Given the description of an element on the screen output the (x, y) to click on. 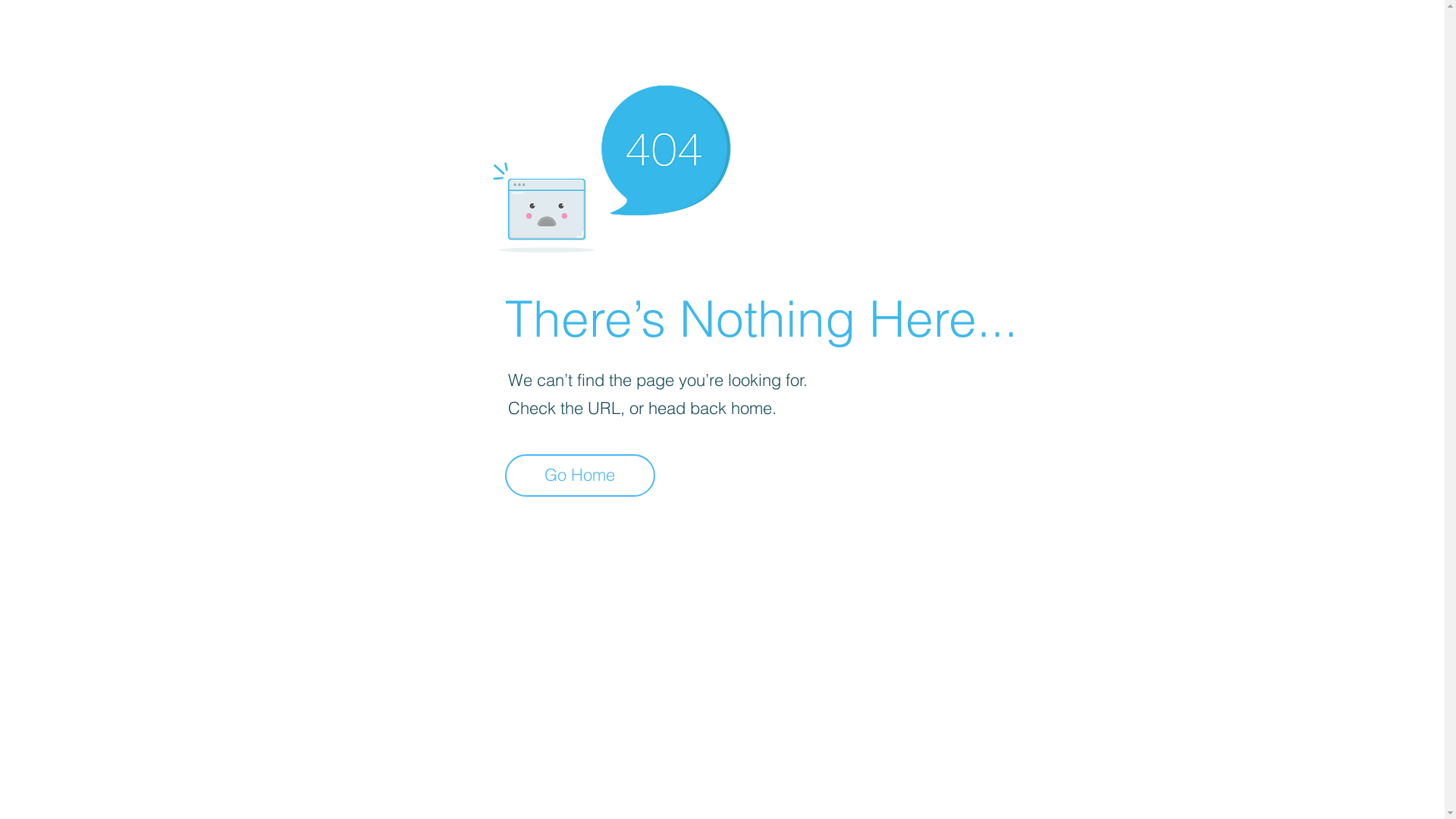
Go Home Element type: text (580, 475)
404-icon_2.png Element type: hover (610, 164)
